Given the description of an element on the screen output the (x, y) to click on. 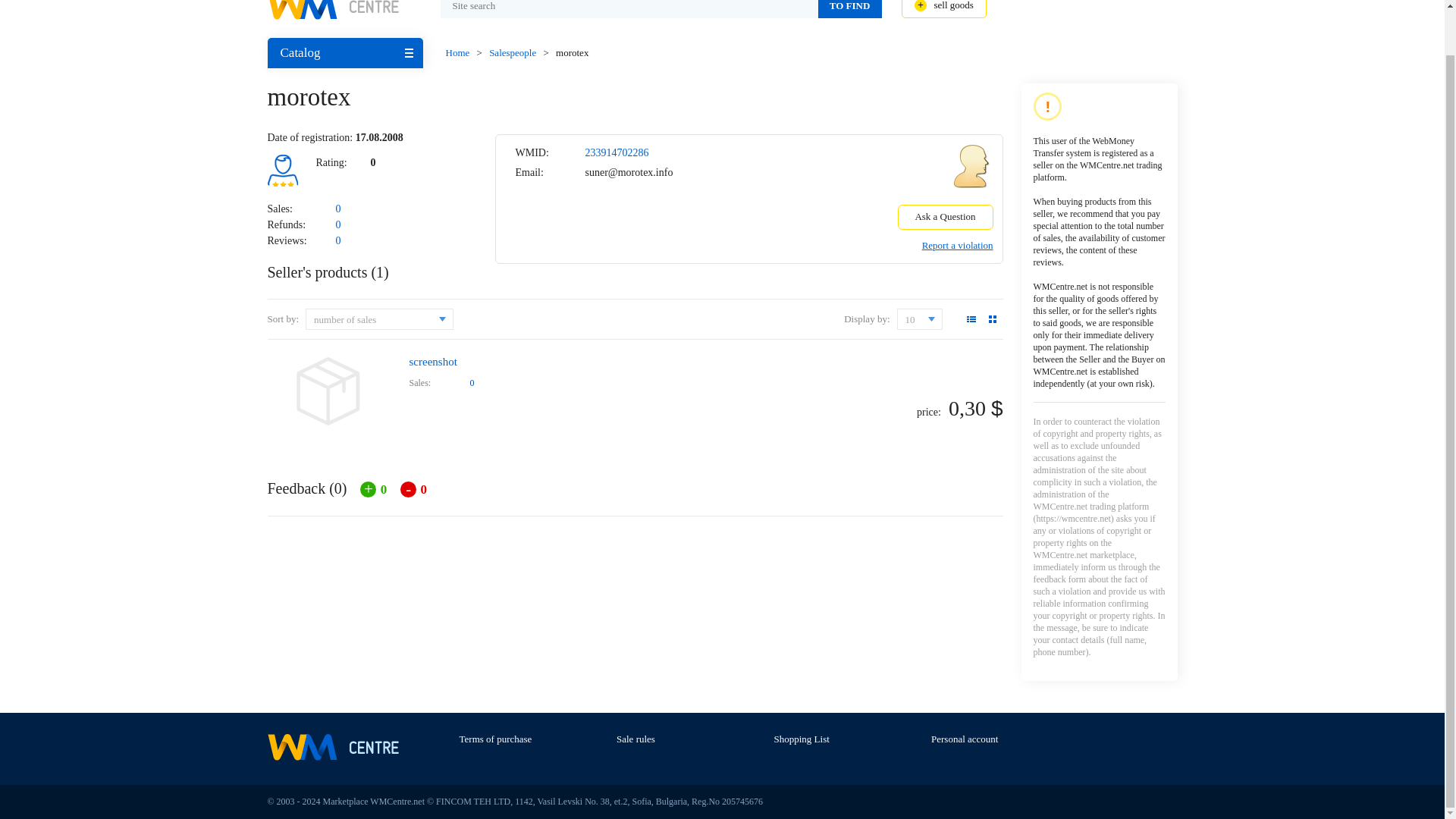
sell goods (943, 9)
To find (848, 9)
To find (848, 9)
